Given the description of an element on the screen output the (x, y) to click on. 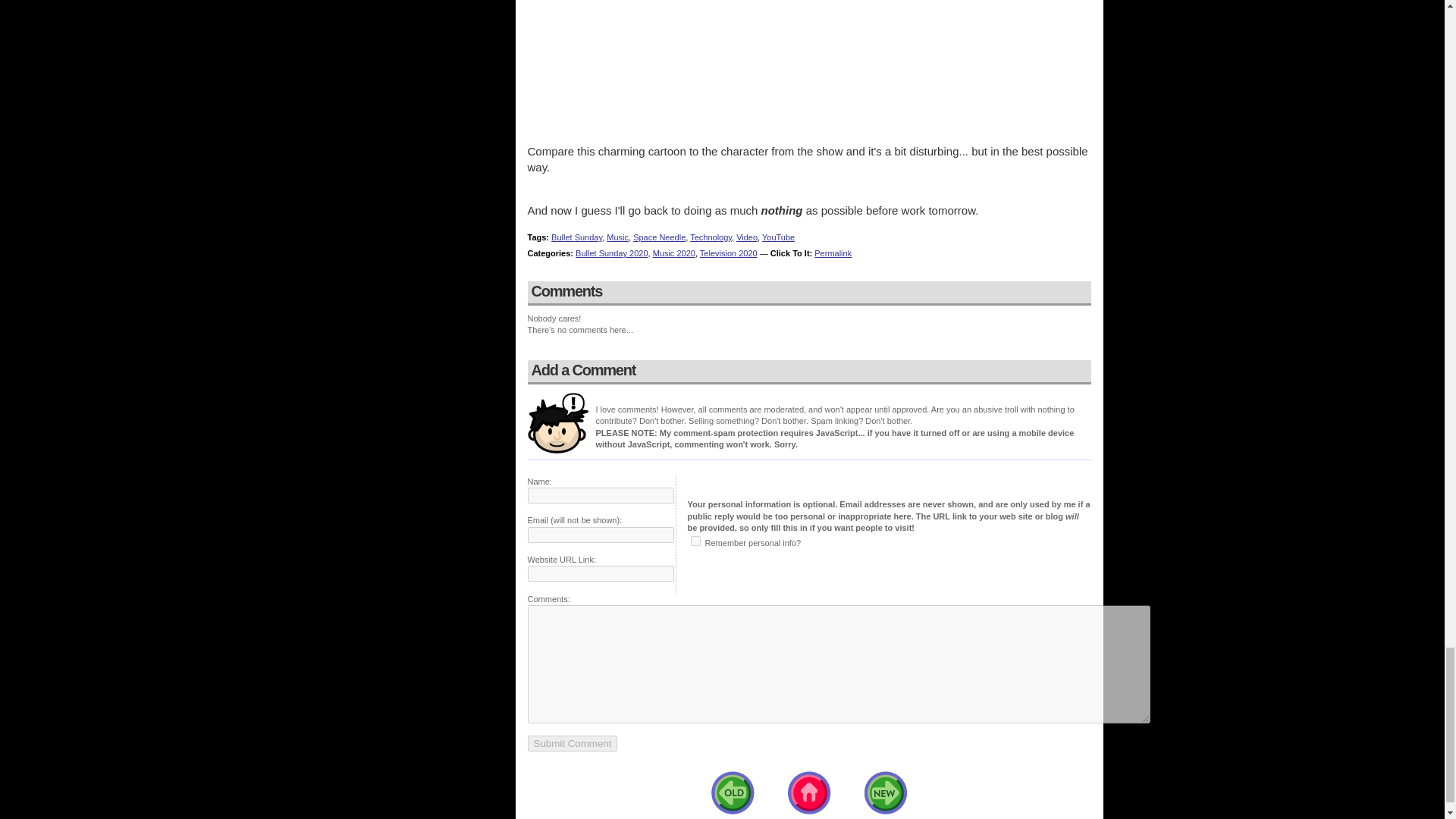
Music 2020 (673, 252)
Television 2020 (728, 252)
Space Needle (659, 236)
Submit Comment (572, 743)
Technology (711, 236)
YouTube (777, 236)
Submit Comment (572, 743)
Music (617, 236)
1 (695, 541)
Bullet Sunday (576, 236)
